Given the description of an element on the screen output the (x, y) to click on. 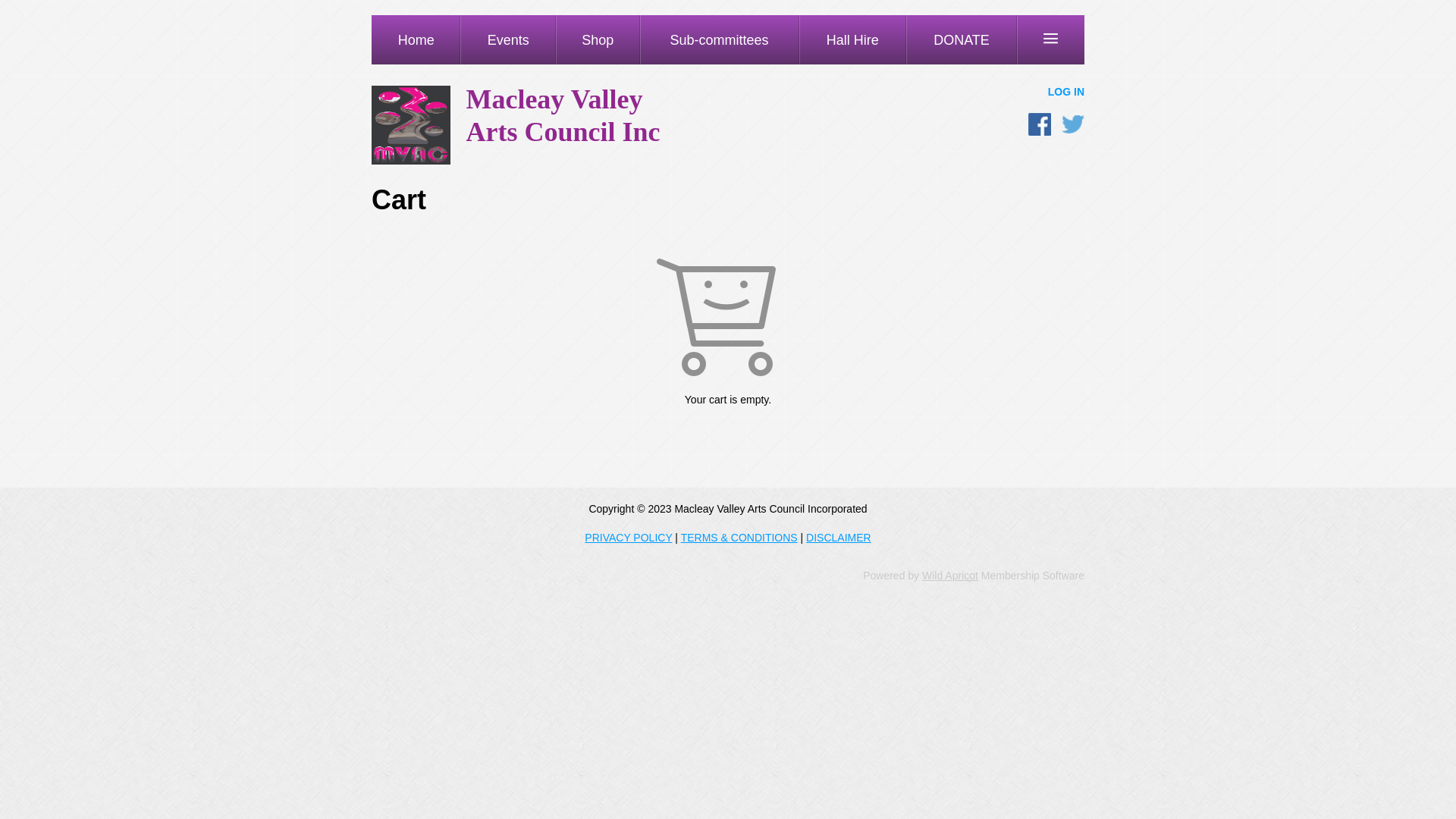
Hall Hire Element type: text (852, 39)
TERMS & CONDITIONS Element type: text (738, 537)
DISCLAIMER Element type: text (838, 537)
HOME Element type: hover (410, 160)
DONATE Element type: text (961, 39)
Events Element type: text (507, 39)
Sub-committees Element type: text (719, 39)
Facebook Element type: hover (1039, 123)
PRIVACY POLICY Element type: text (627, 537)
LOG IN Element type: text (1066, 91)
Wild Apricot Element type: text (950, 575)
Home Element type: text (415, 39)
Shop Element type: text (597, 39)
Twitter Element type: hover (1072, 123)
